Given the description of an element on the screen output the (x, y) to click on. 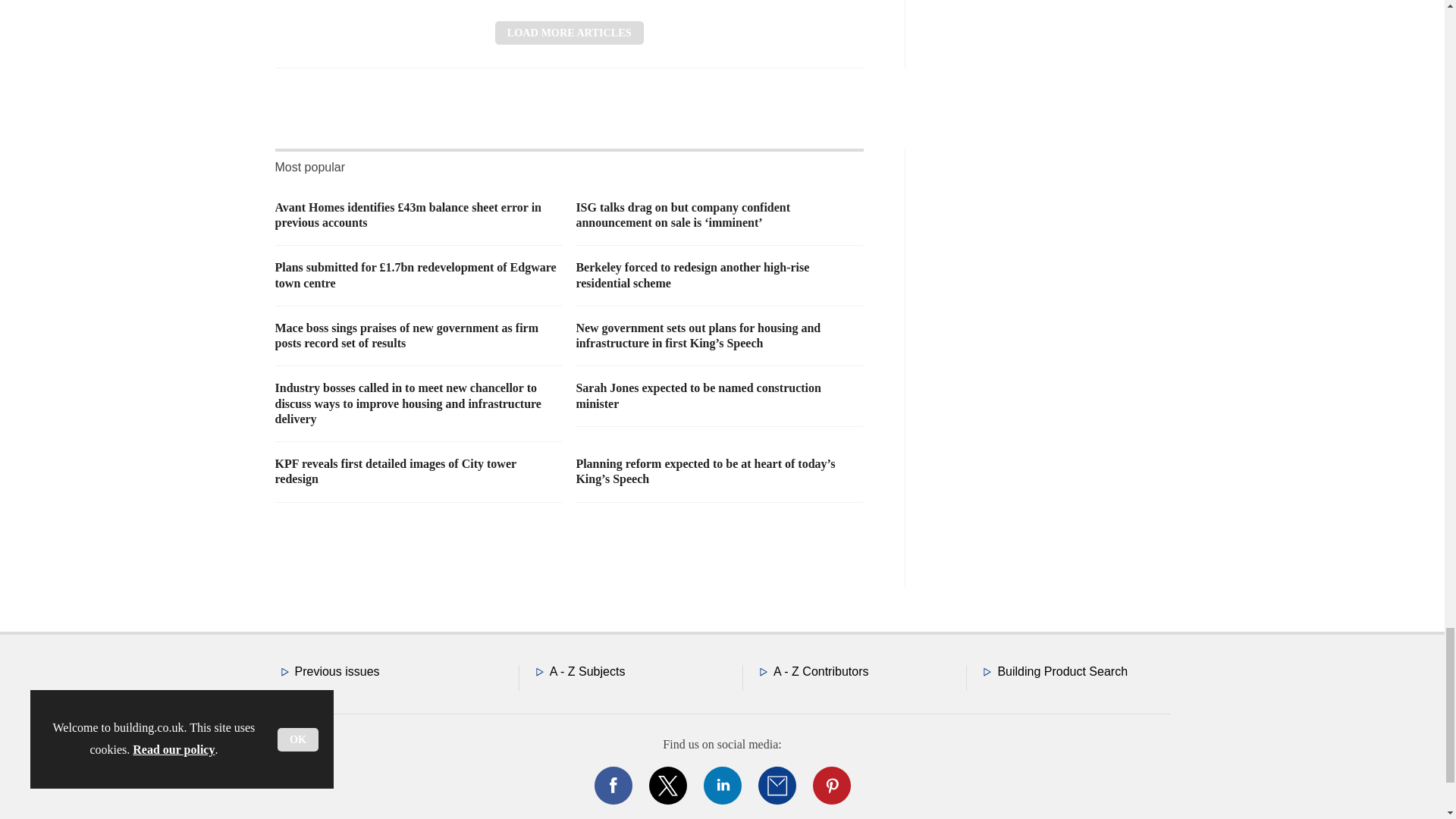
Connect with us on Twitter (667, 785)
Email us (776, 785)
Connect with us on Facebook (611, 785)
Connect with us on Linked in (721, 785)
Connect with us on Pinterest (830, 785)
